Given the description of an element on the screen output the (x, y) to click on. 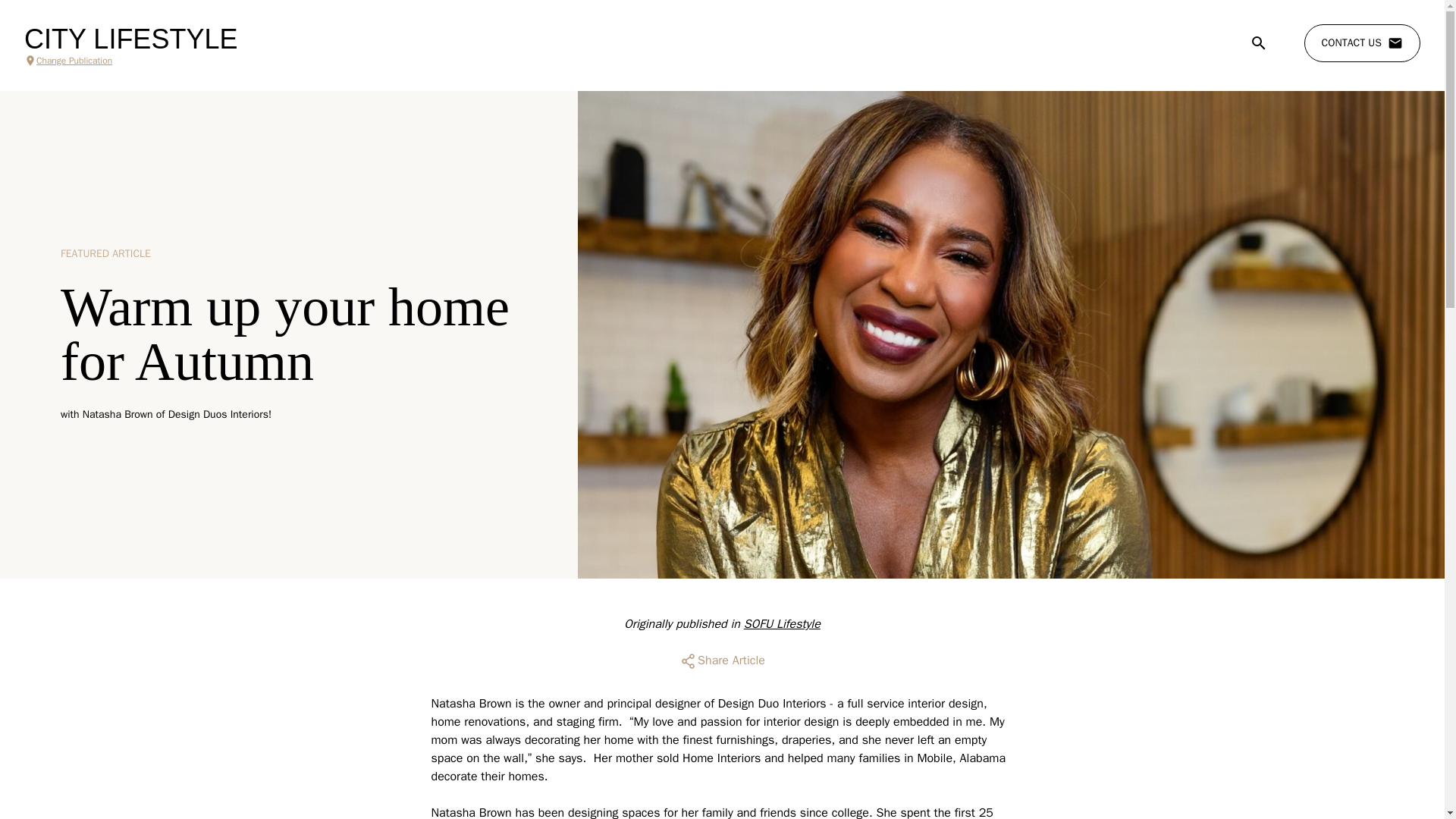
SOFU Lifestyle (782, 623)
CONTACT US (1362, 43)
Change Publication (130, 60)
Share Article (722, 660)
CITY LIFESTYLE (130, 39)
